Given the description of an element on the screen output the (x, y) to click on. 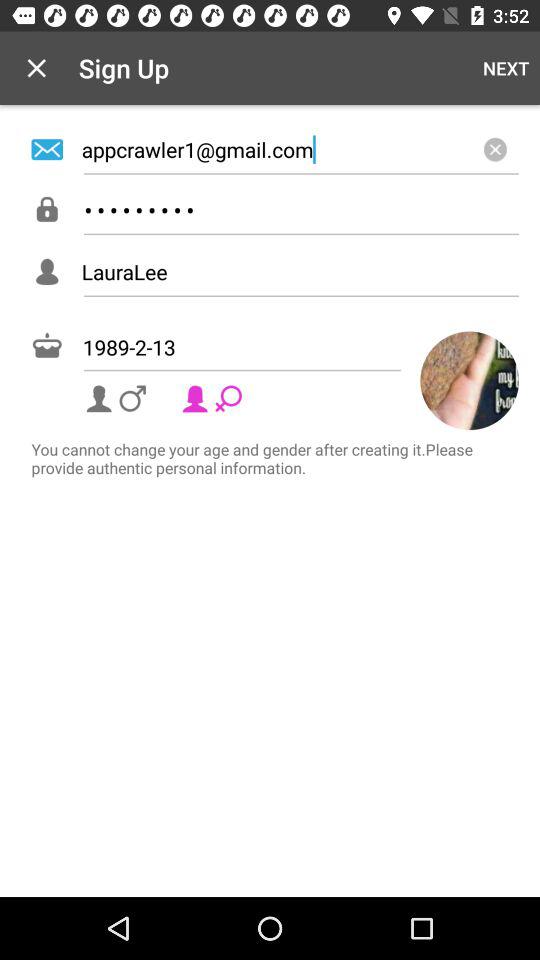
scroll to next item (506, 67)
